Given the description of an element on the screen output the (x, y) to click on. 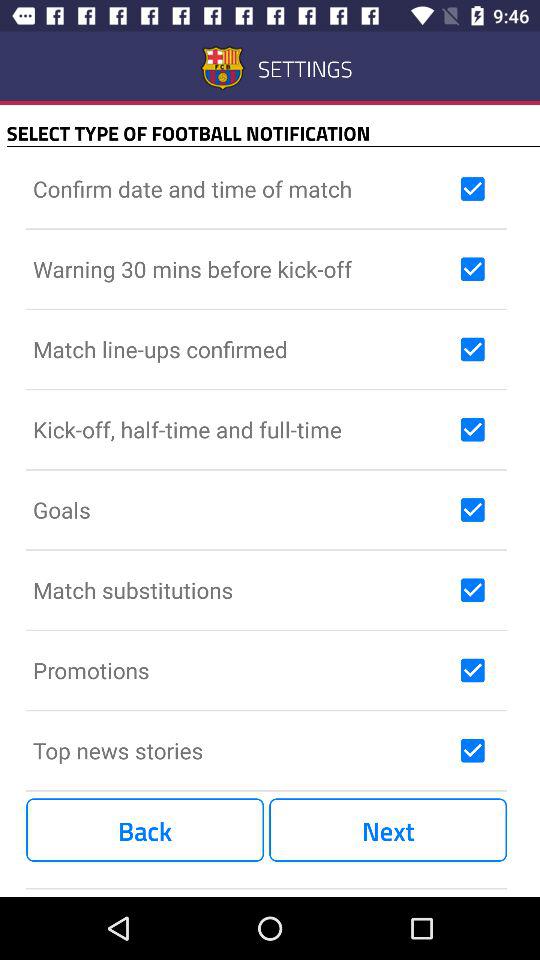
select notification checkbox (472, 189)
